Given the description of an element on the screen output the (x, y) to click on. 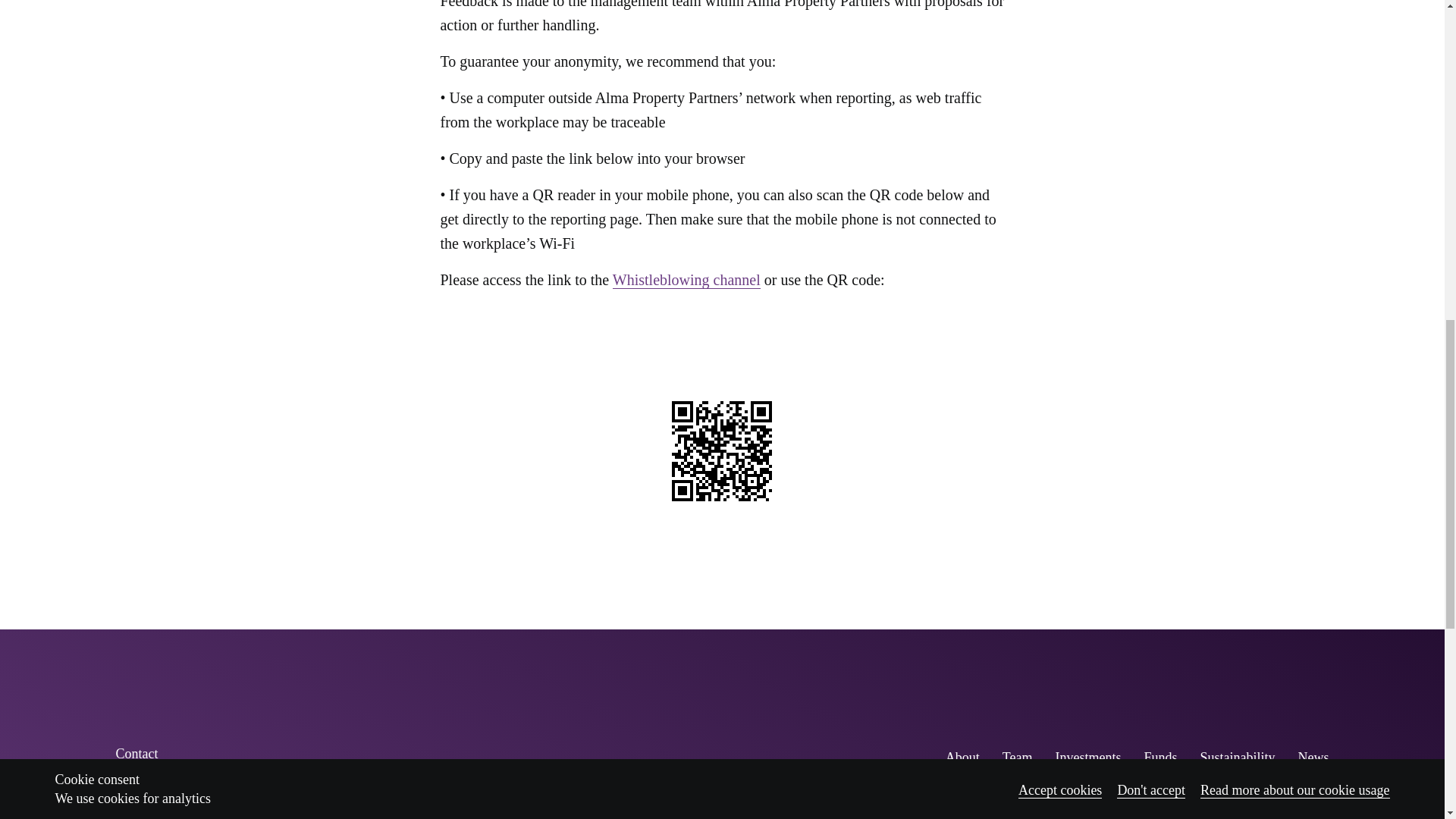
Whistleblowing channel (686, 280)
Team (1017, 757)
Sustainability (1237, 757)
News (1312, 757)
Funds (1159, 757)
About (961, 757)
Investments (1087, 757)
